Given the description of an element on the screen output the (x, y) to click on. 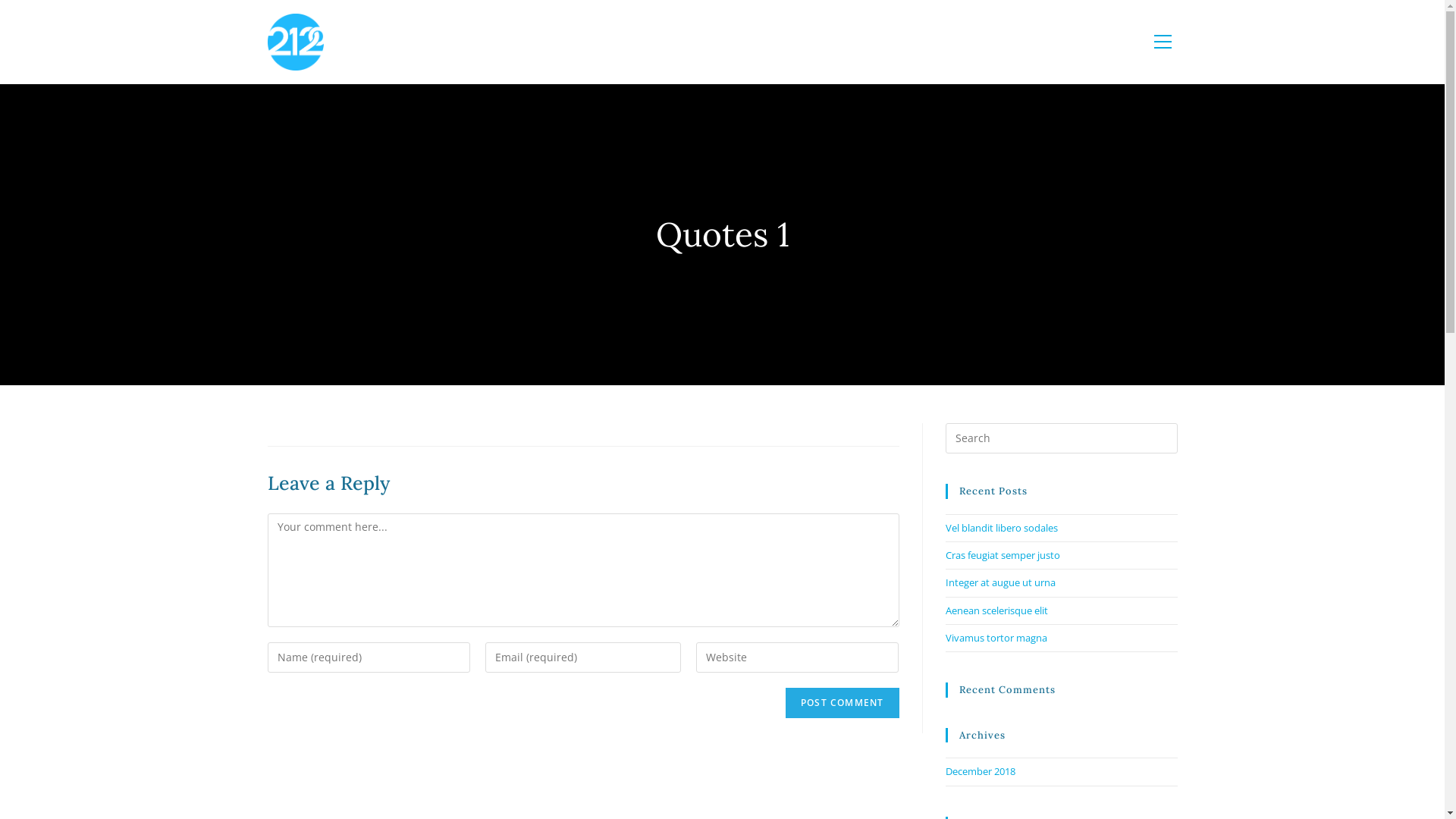
Aenean scelerisque elit Element type: text (995, 610)
Vel blandit libero sodales Element type: text (1000, 526)
Integer at augue ut urna Element type: text (999, 582)
Post Comment Element type: text (841, 702)
Vivamus tortor magna Element type: text (995, 637)
Cras feugiat semper justo Element type: text (1001, 554)
December 2018 Element type: text (979, 771)
